Given the description of an element on the screen output the (x, y) to click on. 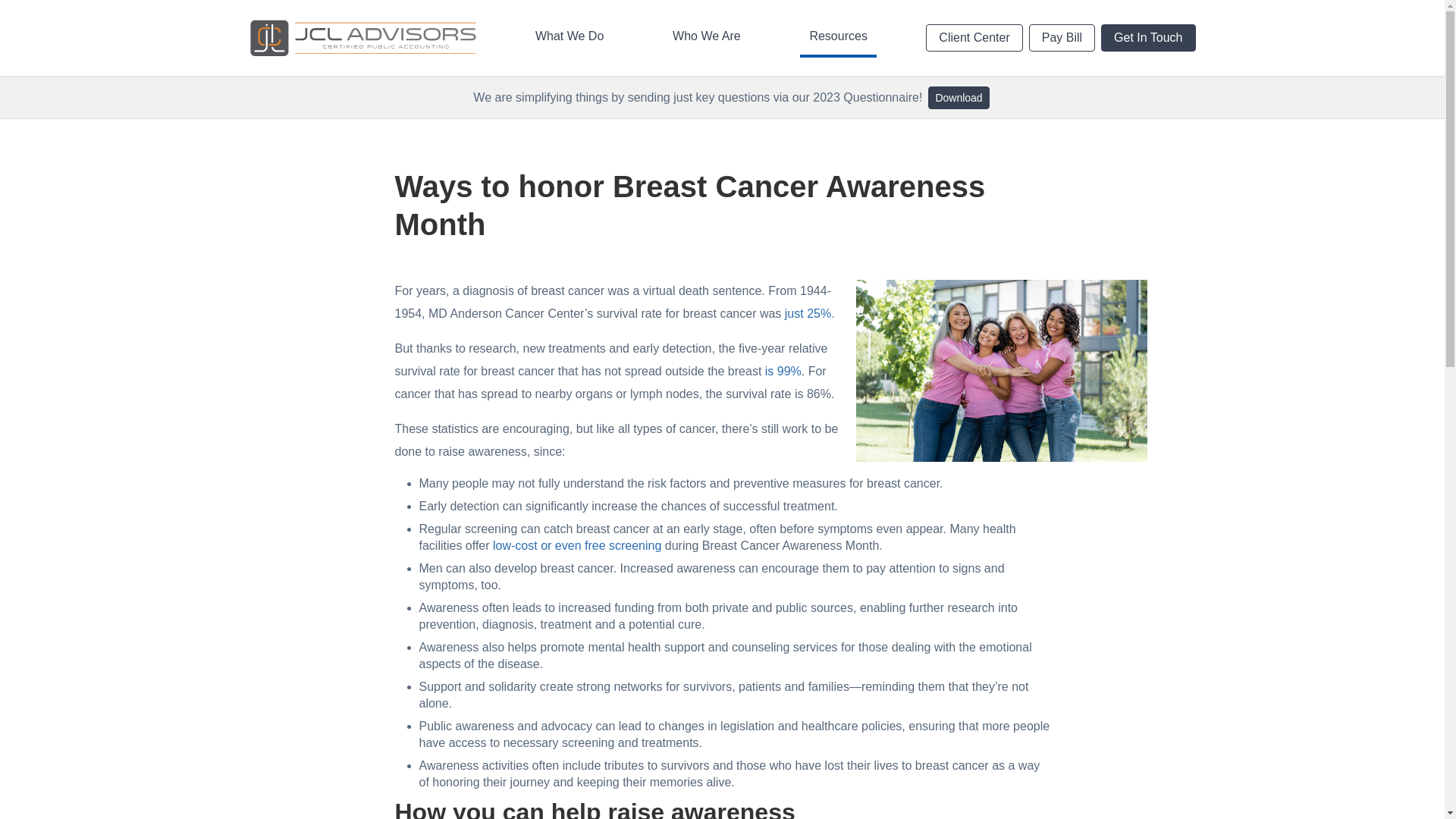
Resources (837, 37)
What We Do (568, 37)
Get In Touch (1147, 37)
QuickBooks Online (856, 21)
Who We Are (706, 37)
Pay Bill (1061, 37)
Client Center (974, 37)
Onvio Client Center (1069, 20)
